Given the description of an element on the screen output the (x, y) to click on. 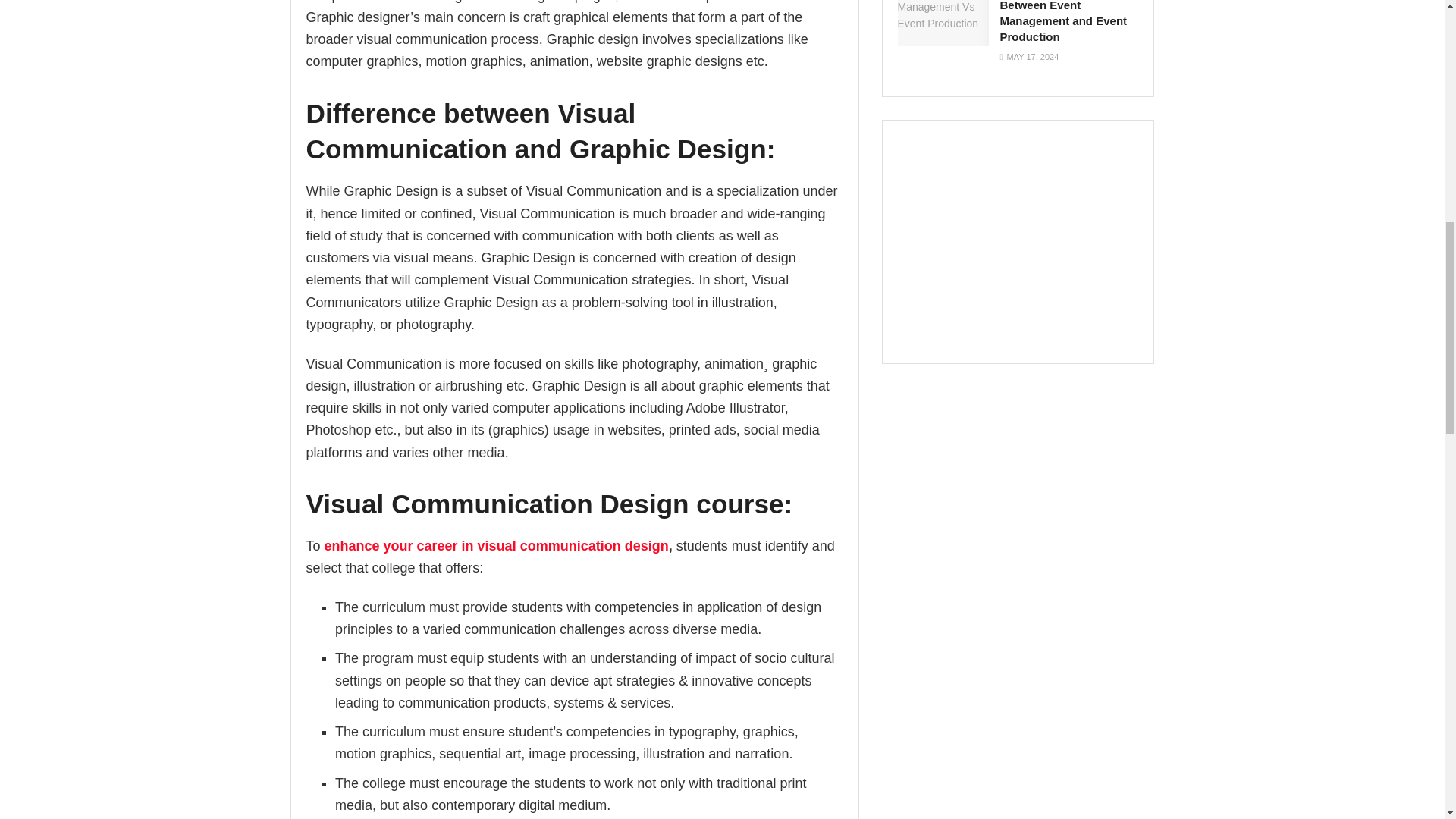
enhance your career in visual communication design (496, 545)
Advertisement (1026, 241)
